Given the description of an element on the screen output the (x, y) to click on. 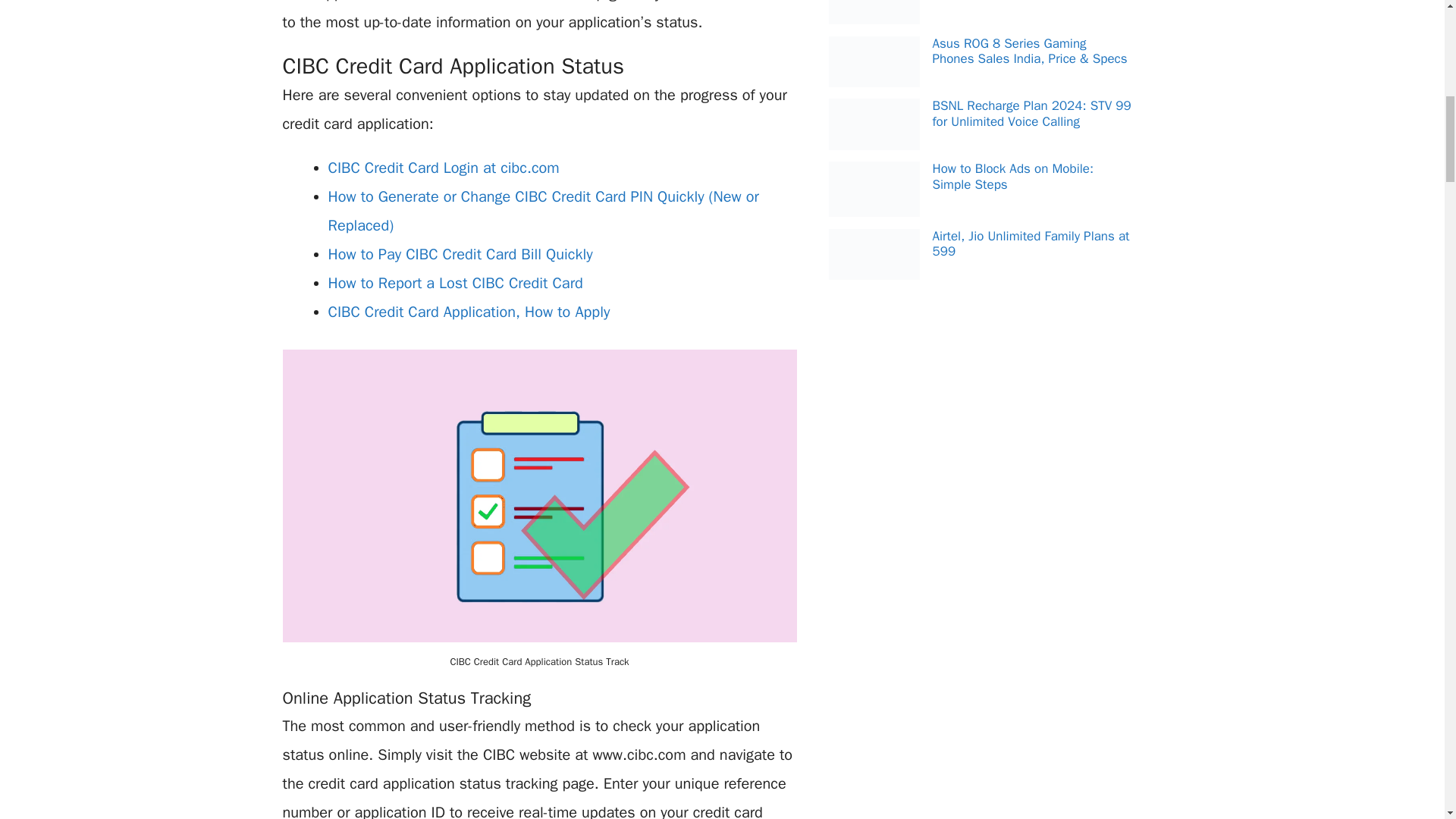
CIBC Credit Card Login at cibc.com (443, 167)
How to Pay CIBC Credit Card Bill Quickly (459, 253)
How to Report a Lost CIBC Credit Card (454, 282)
CIBC Credit Card Application, How to Apply (468, 311)
